Given the description of an element on the screen output the (x, y) to click on. 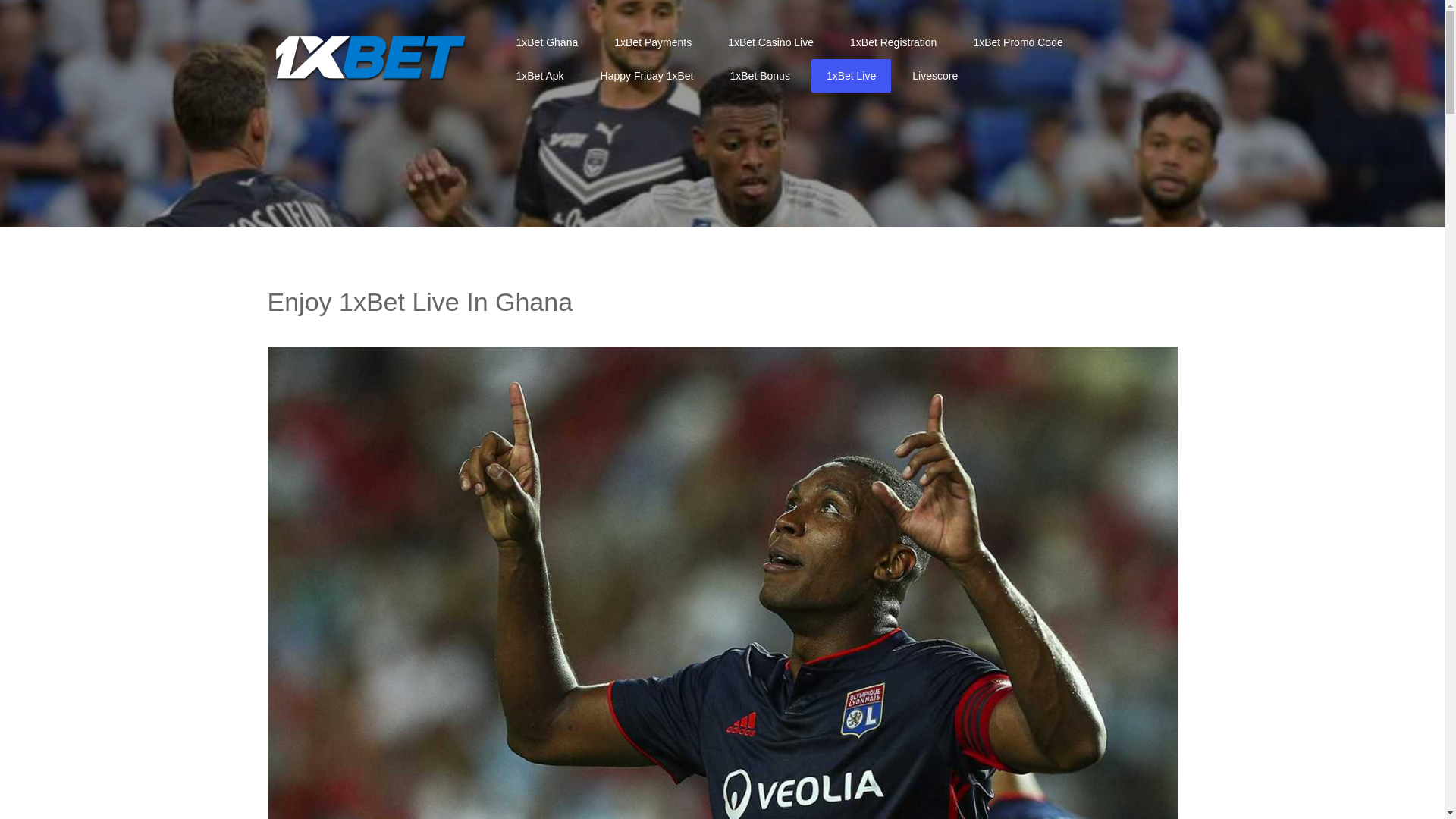
1xBet Live Element type: text (850, 75)
Happy Friday 1xBet Element type: text (646, 75)
1xBet Registration Element type: text (893, 42)
1xBet Promo Code Element type: text (1017, 42)
Livescore Element type: text (934, 75)
1xBet Ghana Element type: text (546, 42)
1xBet Bonus Element type: text (759, 75)
1xBet Casino Live Element type: text (770, 42)
1xBet Payments Element type: text (652, 42)
1xBet Apk Element type: text (539, 75)
